Given the description of an element on the screen output the (x, y) to click on. 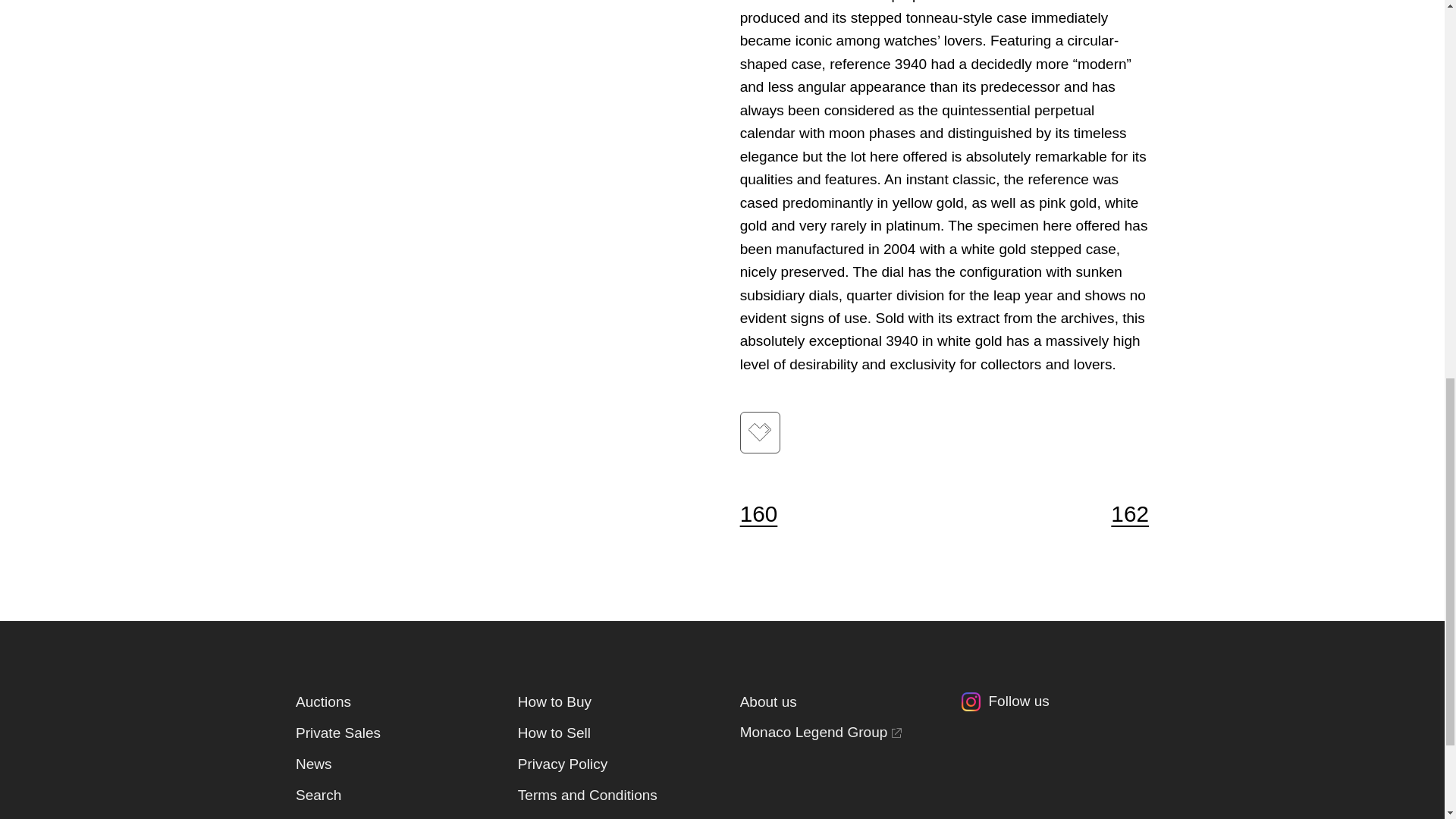
162 (1120, 514)
News (313, 763)
Monaco Legend Group (820, 732)
Follow us (1054, 705)
Privacy Policy (562, 763)
About us (767, 701)
160 (767, 514)
Private Sales (337, 732)
Auctions (322, 701)
Search (317, 794)
Terms and Conditions (588, 794)
How to Buy (554, 701)
How to Sell (554, 732)
